Given the description of an element on the screen output the (x, y) to click on. 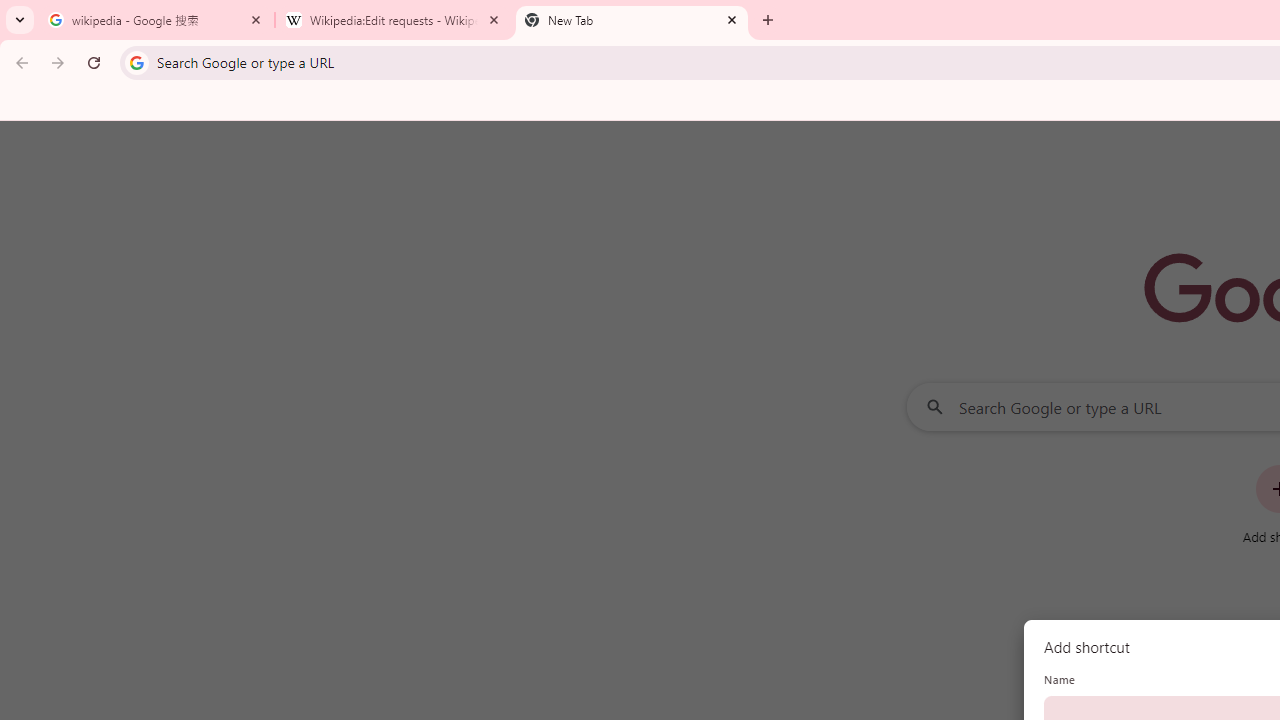
Wikipedia:Edit requests - Wikipedia (394, 20)
New Tab (632, 20)
